Given the description of an element on the screen output the (x, y) to click on. 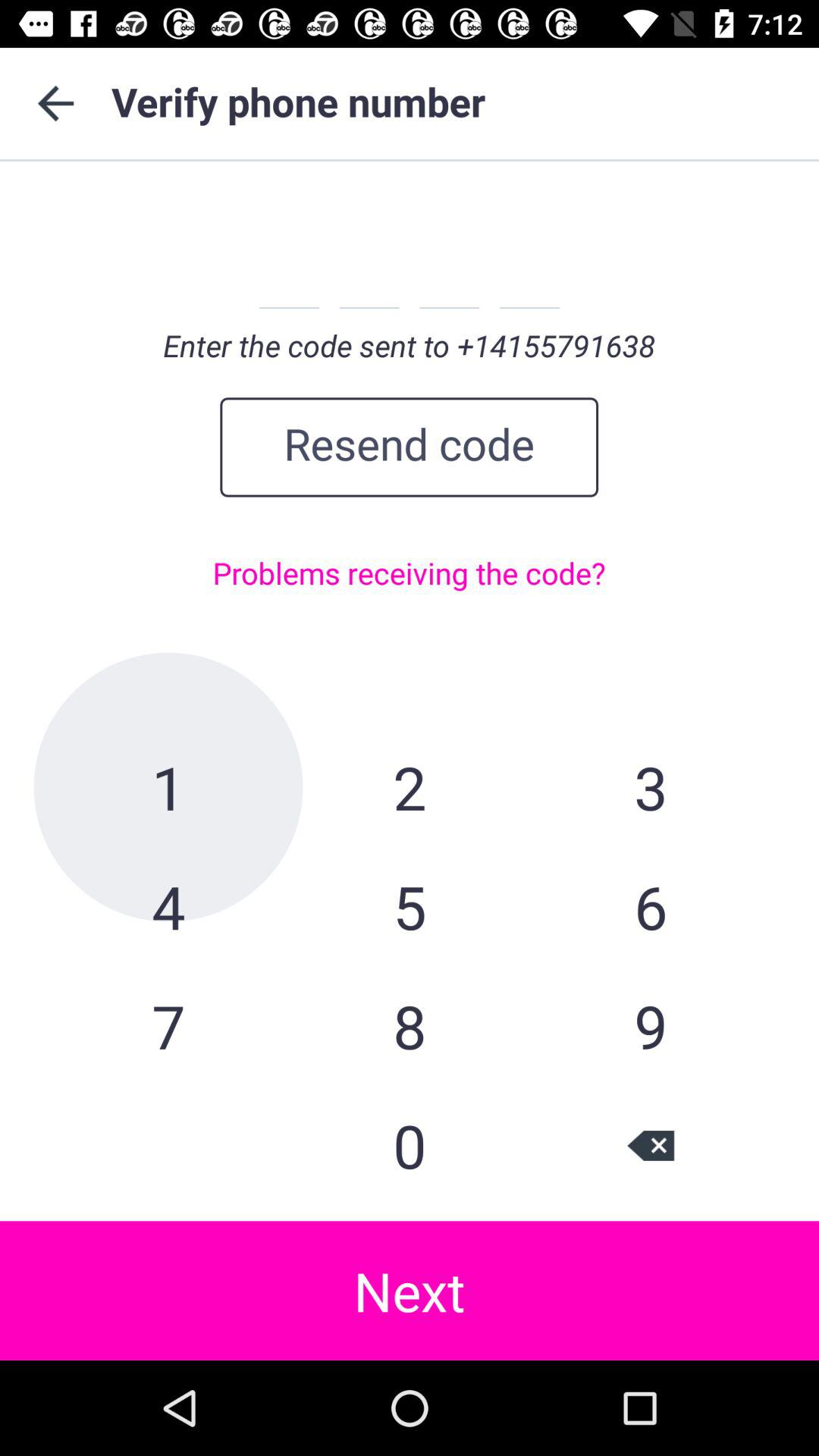
click the button 5 on the web page (409, 906)
click the button 8 on the web page (409, 1026)
click the button 6 on the web page (650, 906)
click the button 7 on the web page (168, 1026)
click the button resend code on the web page (409, 447)
click the button on the top left corner of the web page (56, 103)
9 (650, 1026)
2 (409, 786)
